Given the description of an element on the screen output the (x, y) to click on. 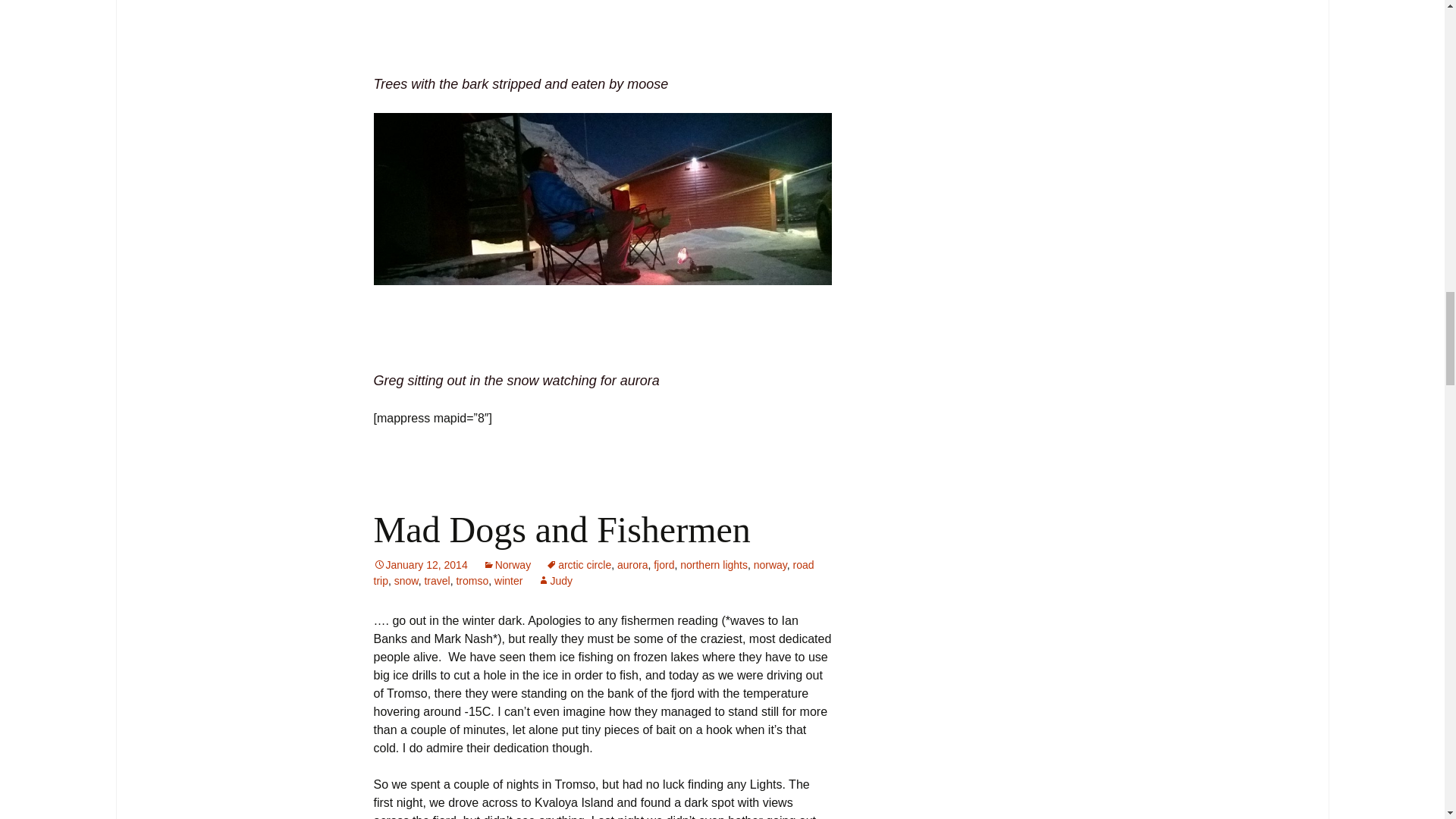
Permalink to Mad Dogs and Fishermen (419, 564)
View all posts by Judy (554, 580)
